Given the description of an element on the screen output the (x, y) to click on. 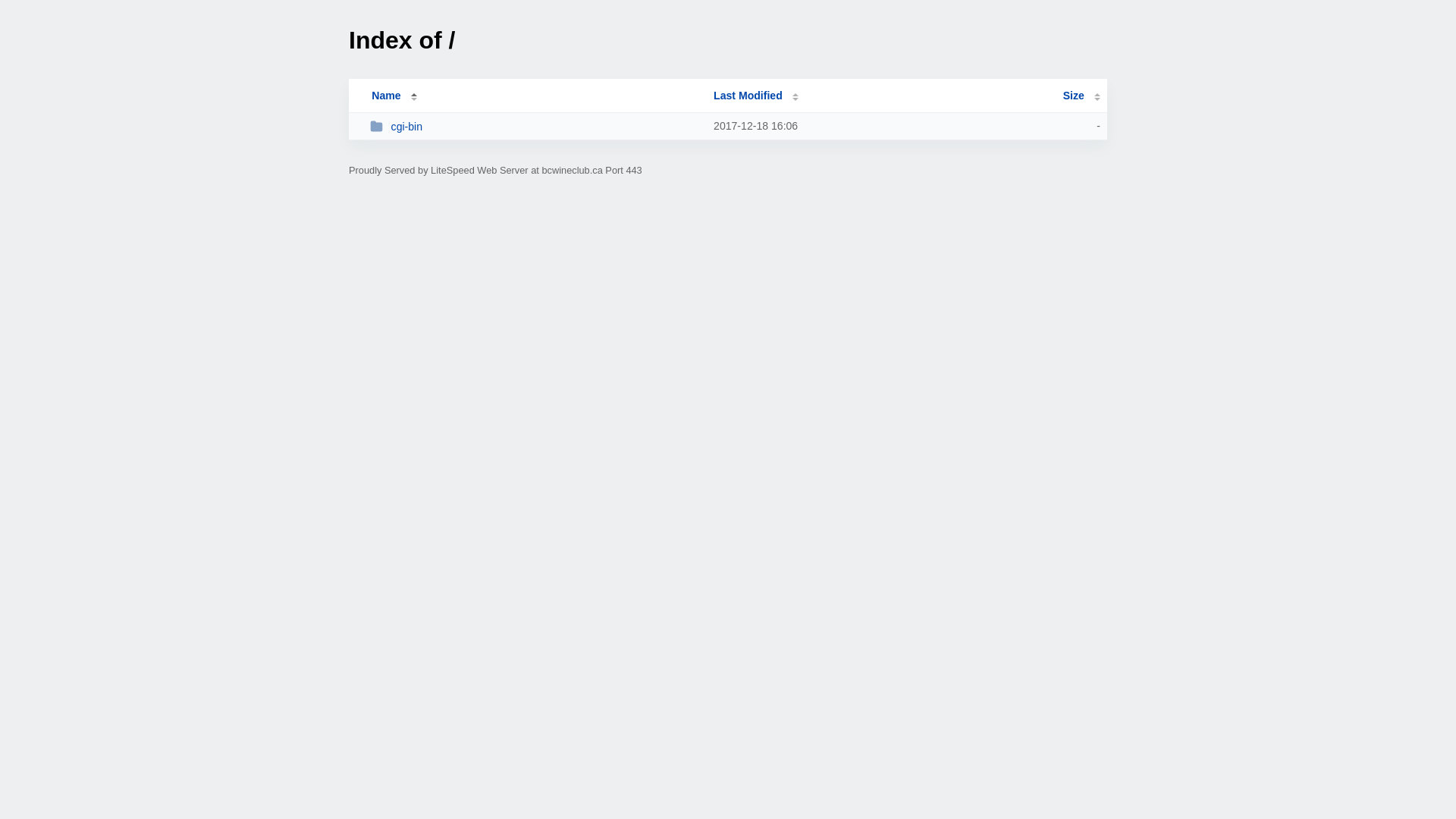
Last Modified Element type: text (755, 95)
cgi-bin Element type: text (534, 125)
Name Element type: text (385, 95)
Size Element type: text (1081, 95)
